Given the description of an element on the screen output the (x, y) to click on. 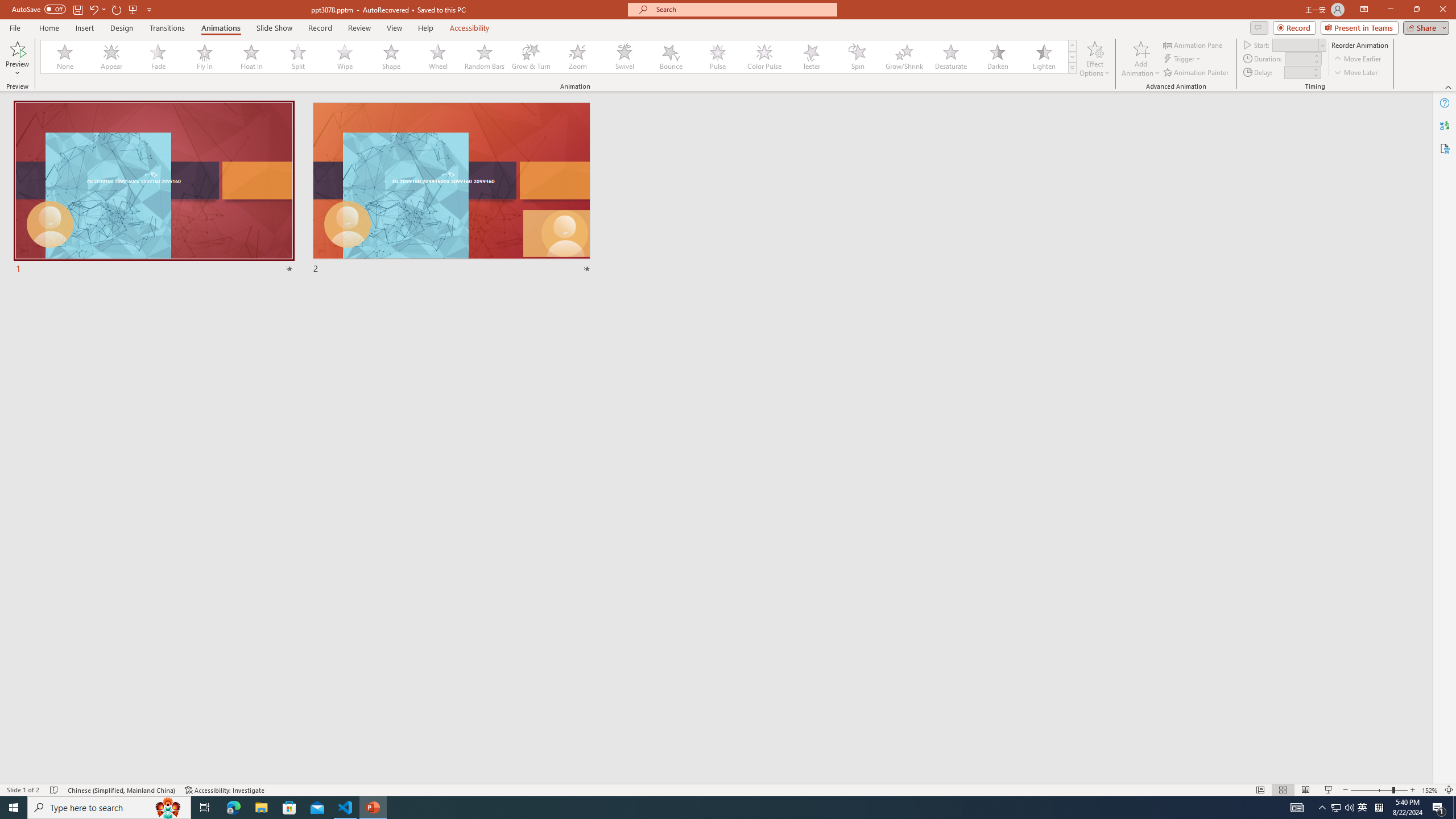
Add Animation (1141, 58)
Bounce (670, 56)
Teeter (810, 56)
Wheel (437, 56)
Color Pulse (764, 56)
Animation Pane (1193, 44)
Float In (251, 56)
Lighten (1043, 56)
